Given the description of an element on the screen output the (x, y) to click on. 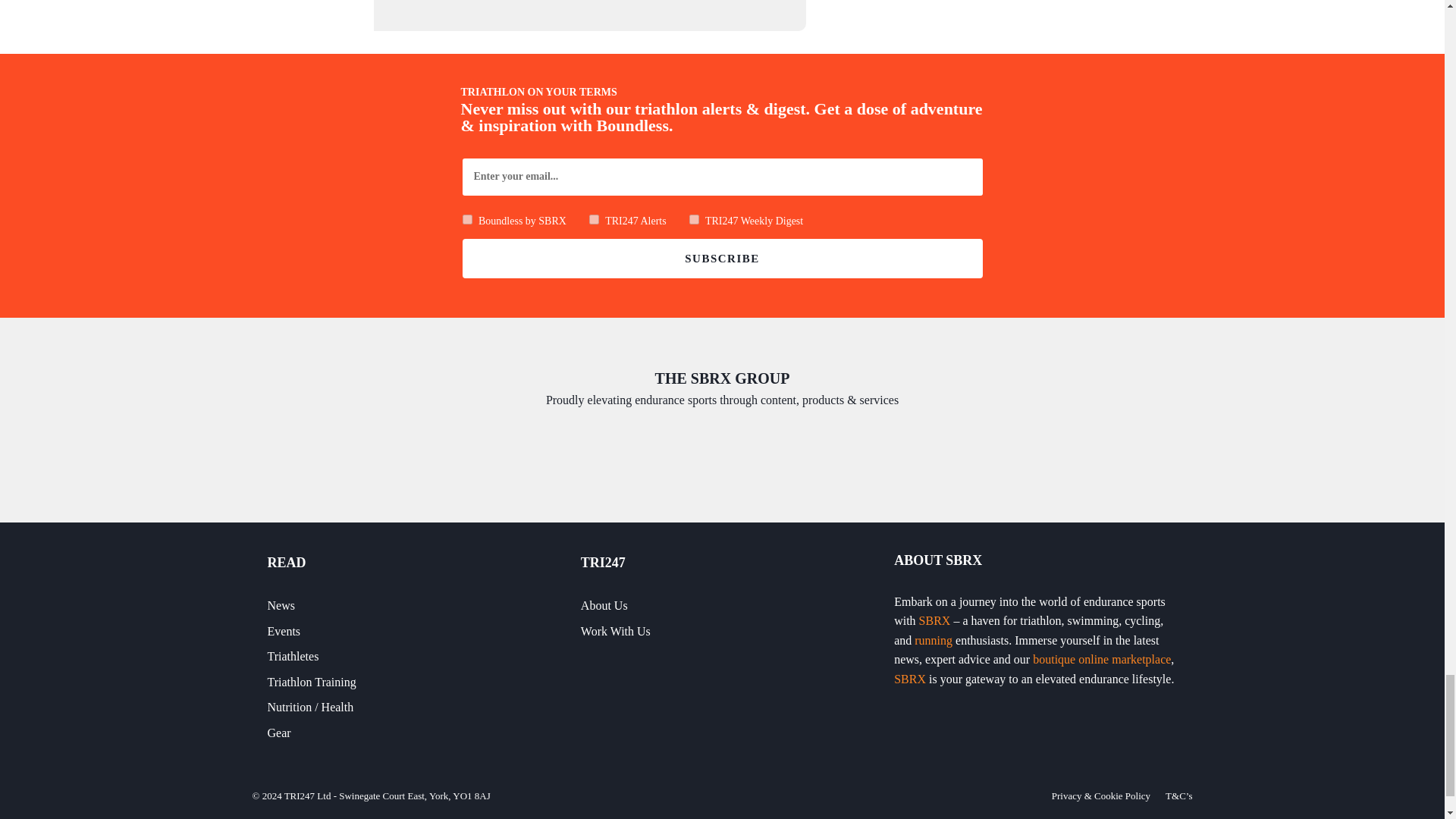
Subscribe (722, 259)
112249833813705994 (467, 219)
112249846371452479 (693, 219)
112248674326676726 (593, 219)
